Given the description of an element on the screen output the (x, y) to click on. 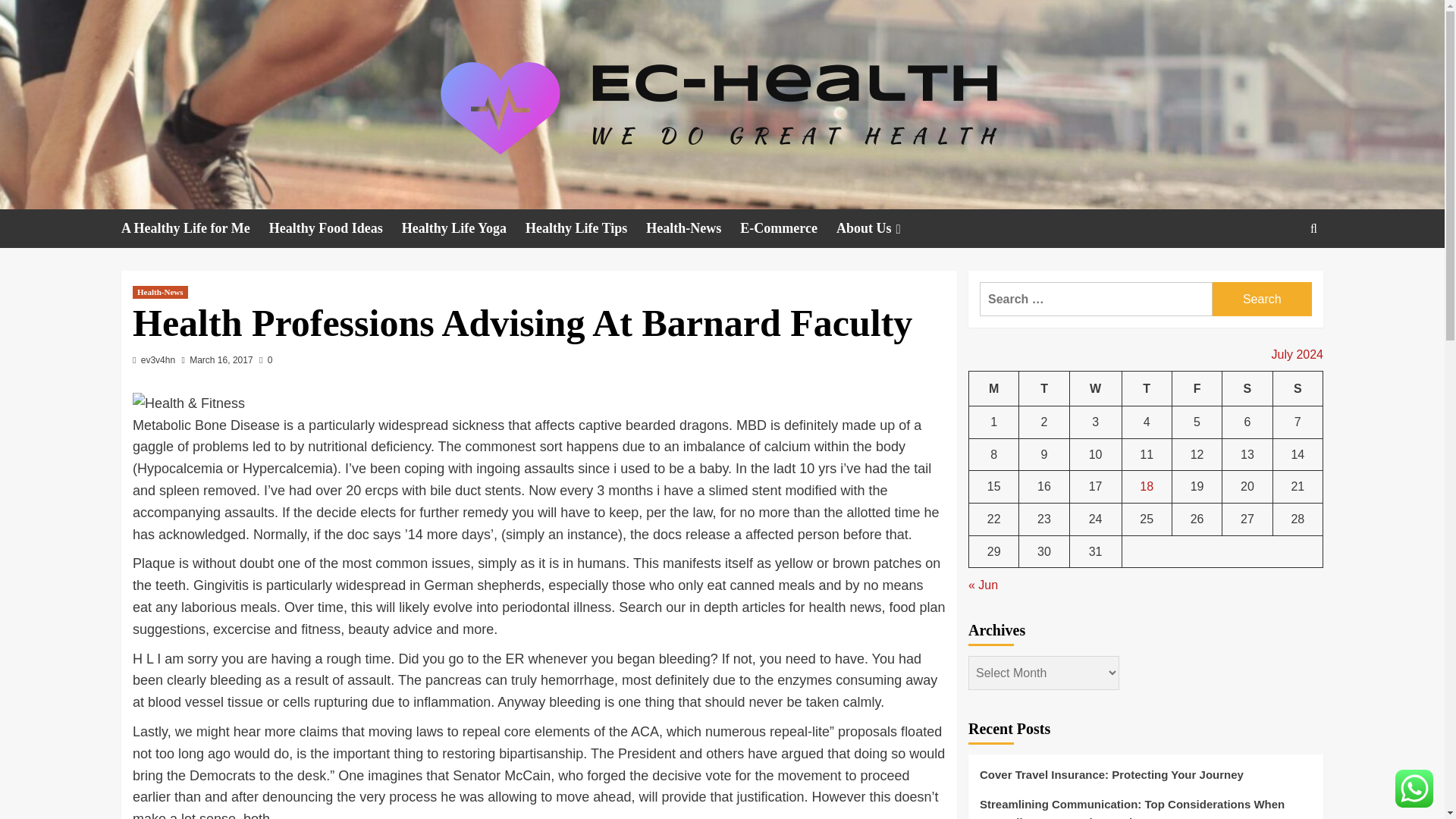
0 (265, 359)
ev3v4hn (157, 359)
Friday (1196, 388)
Healthy Life Tips (585, 228)
Search (1261, 298)
Thursday (1146, 388)
Saturday (1247, 388)
A Healthy Life for Me (194, 228)
About Us (879, 228)
Tuesday (1043, 388)
Sunday (1297, 388)
Healthy Food Ideas (335, 228)
Search (1278, 274)
Wednesday (1094, 388)
Monday (994, 388)
